Given the description of an element on the screen output the (x, y) to click on. 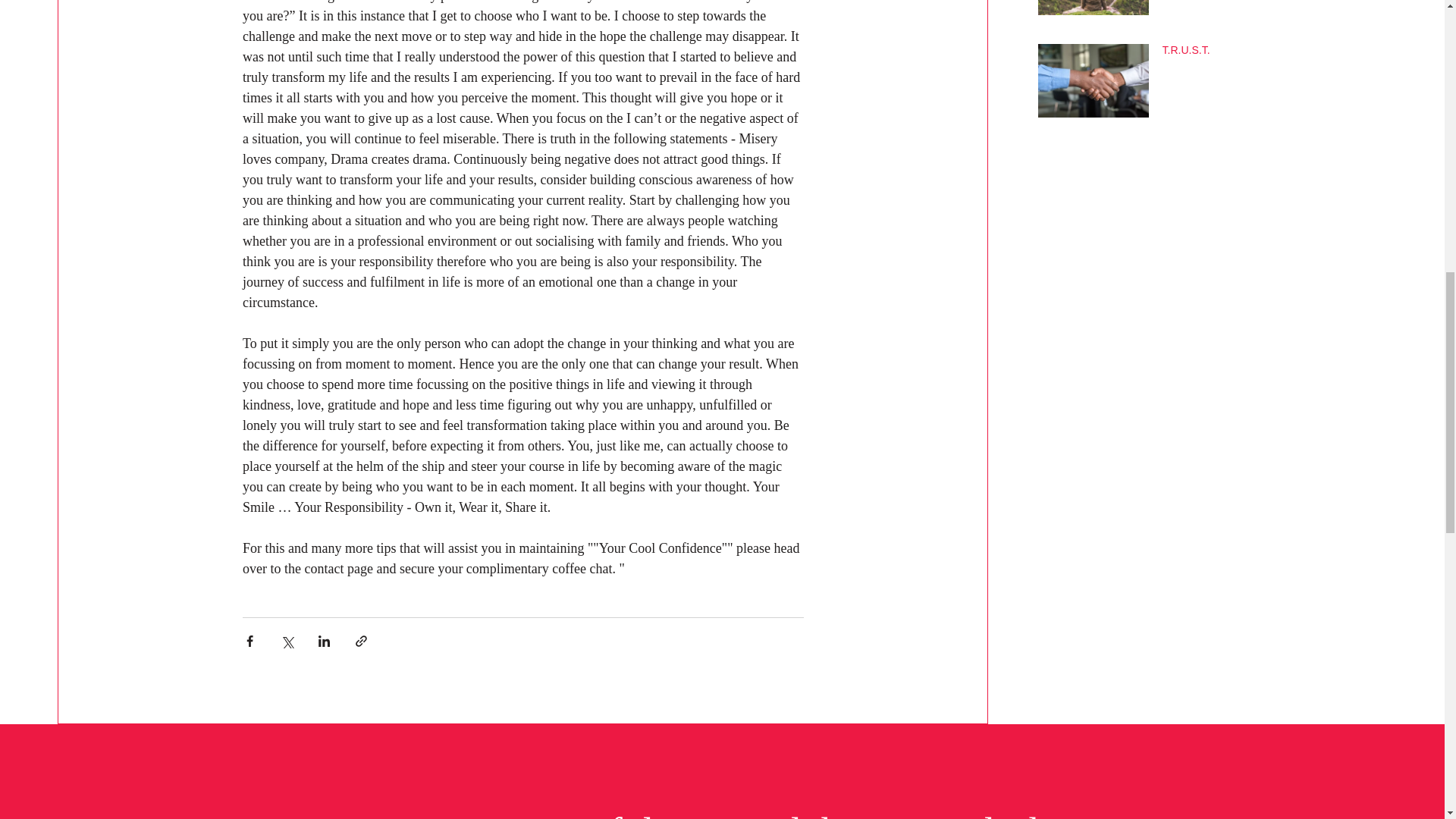
T.R.U.S.T. (1267, 53)
